Given the description of an element on the screen output the (x, y) to click on. 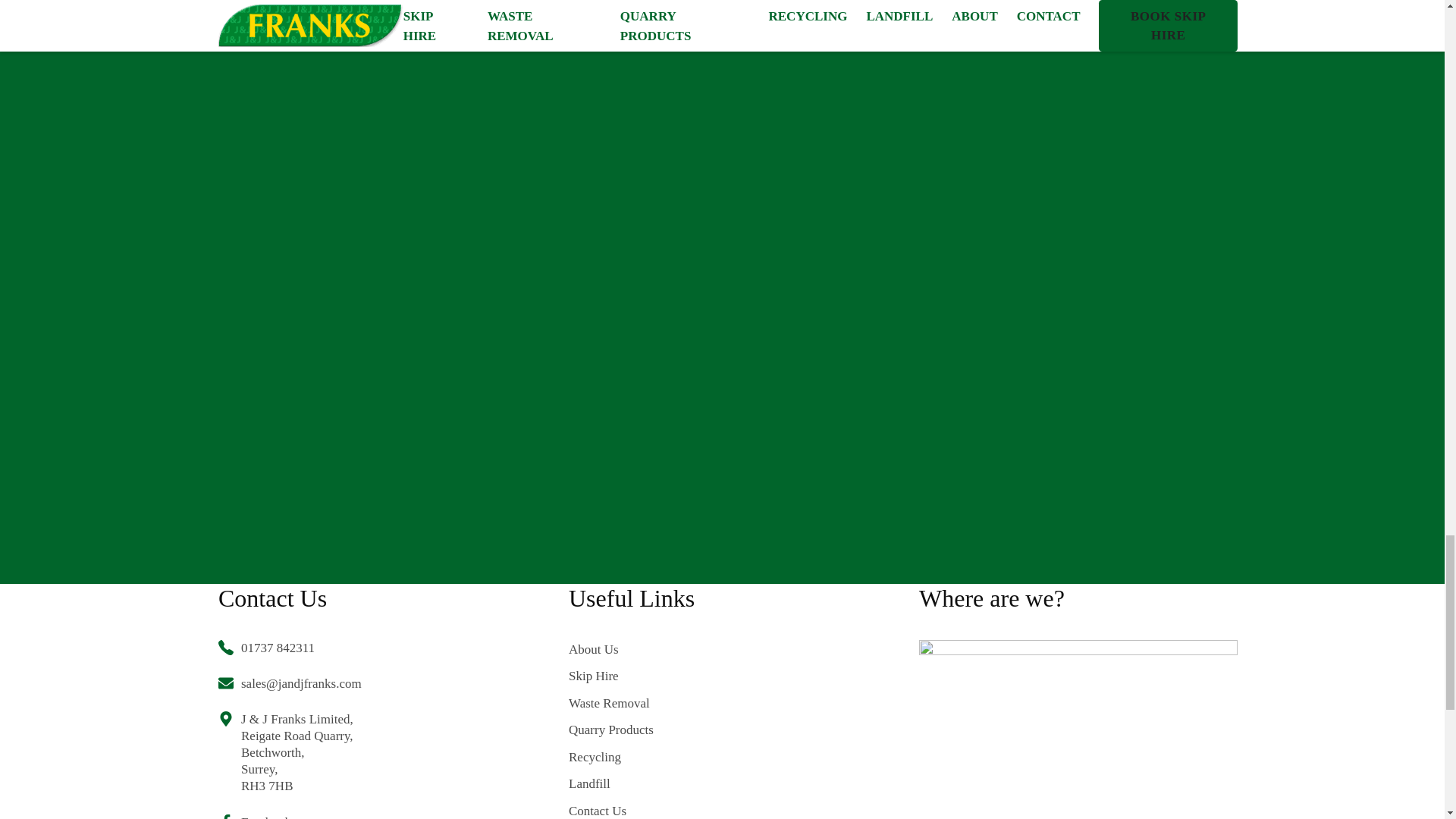
Quarry Products (652, 730)
Waste Removal (652, 703)
01737 842311 (289, 647)
Skip Hire (652, 676)
Landfill (652, 783)
Facebook (289, 816)
Recycling (652, 757)
Contact Us (652, 810)
About Us (652, 649)
